Given the description of an element on the screen output the (x, y) to click on. 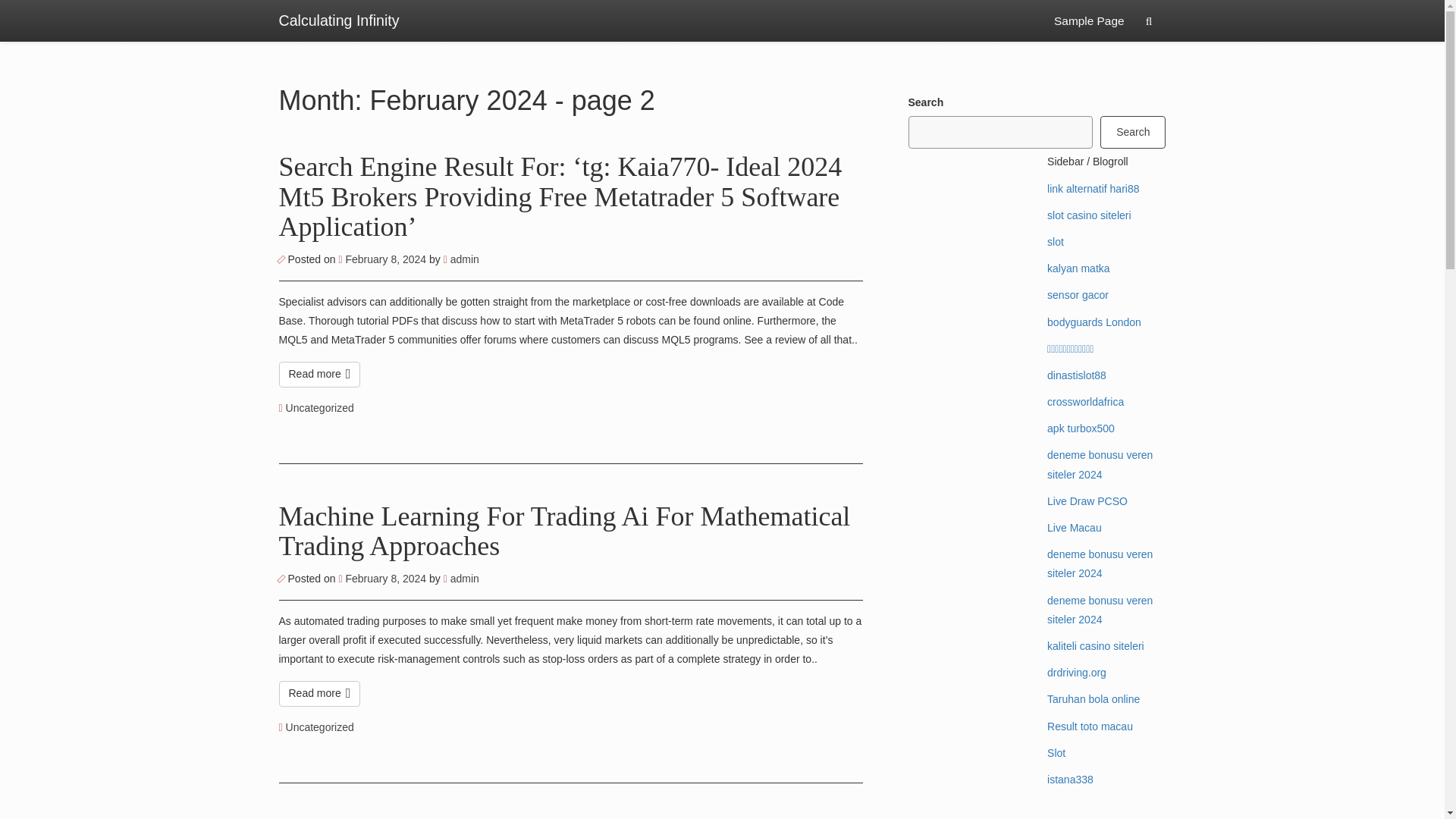
Read more (320, 374)
admin (461, 259)
bodyguards London (1093, 321)
Read more (320, 693)
February 8, 2024 (383, 578)
Uncategorized (319, 727)
admin (461, 578)
Search (1133, 132)
kalyan matka (1077, 268)
February 8, 2024 (383, 259)
link alternatif hari88 (1092, 188)
slot casino siteleri (1088, 215)
sensor gacor (1077, 295)
slot (1055, 241)
